Given the description of an element on the screen output the (x, y) to click on. 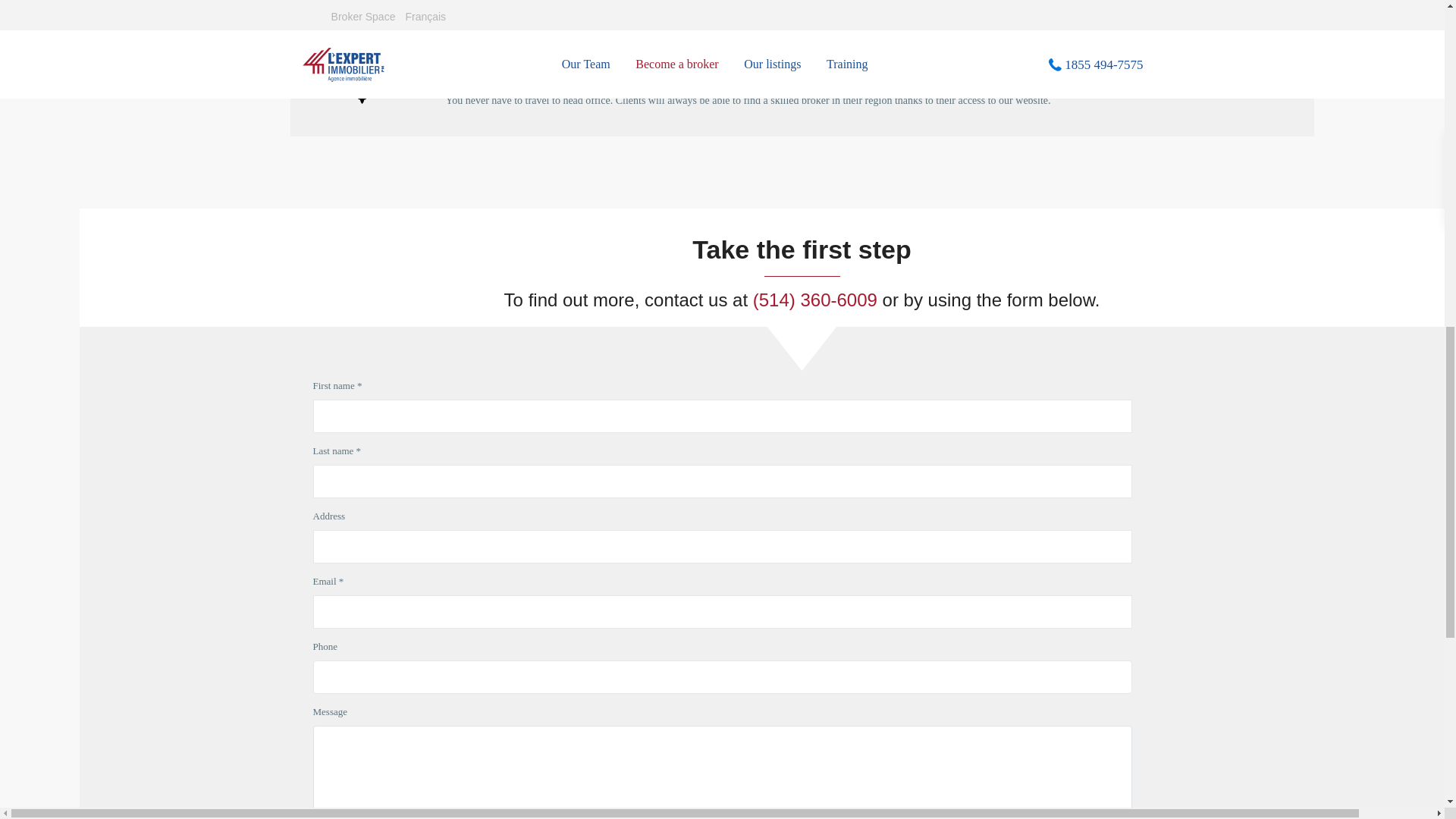
lis-75x75 (361, 81)
